Given the description of an element on the screen output the (x, y) to click on. 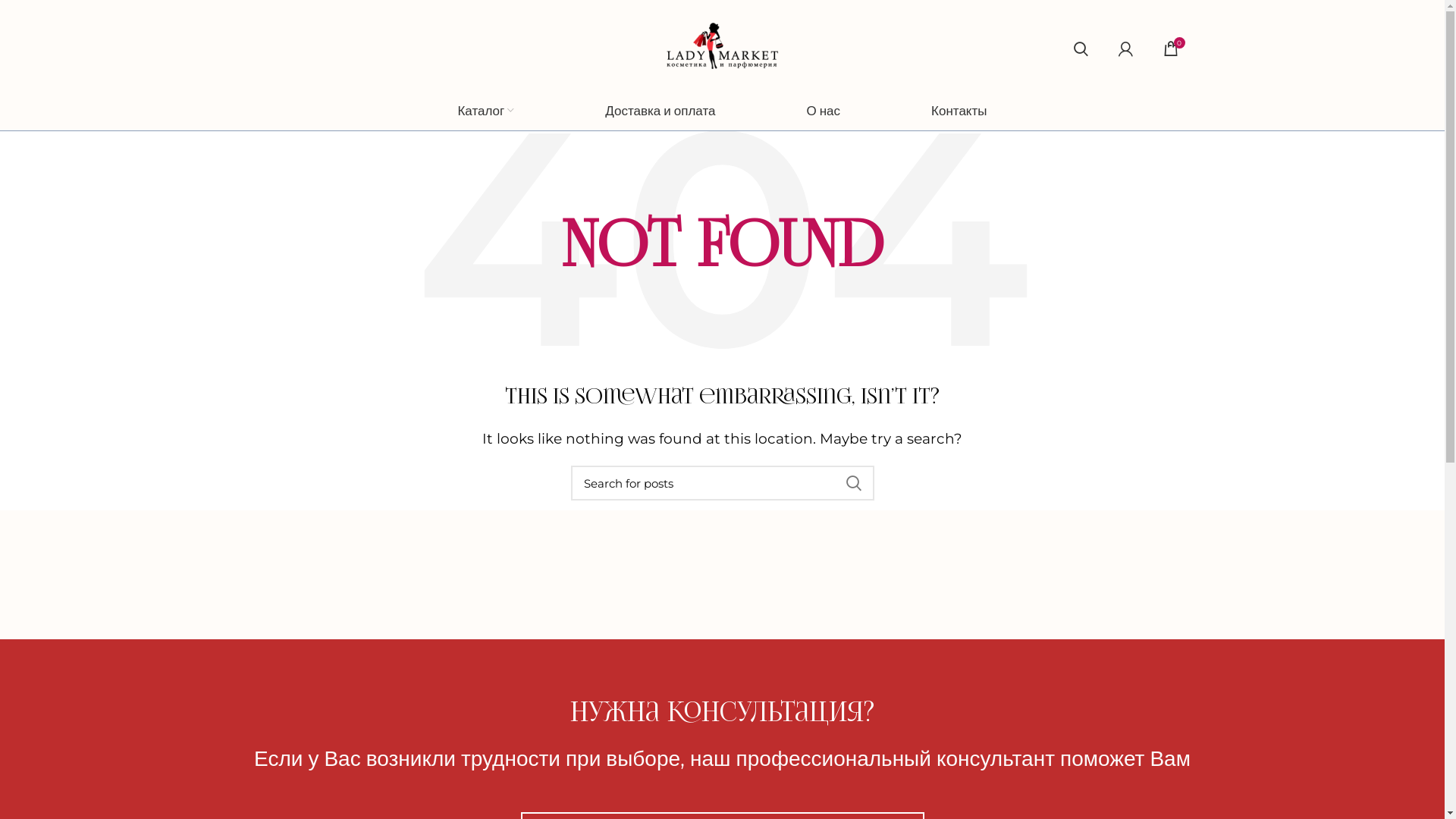
0 Element type: text (1170, 45)
Search Element type: hover (1065, 45)
Search for posts Element type: hover (721, 482)
SEARCH Element type: text (853, 482)
